Given the description of an element on the screen output the (x, y) to click on. 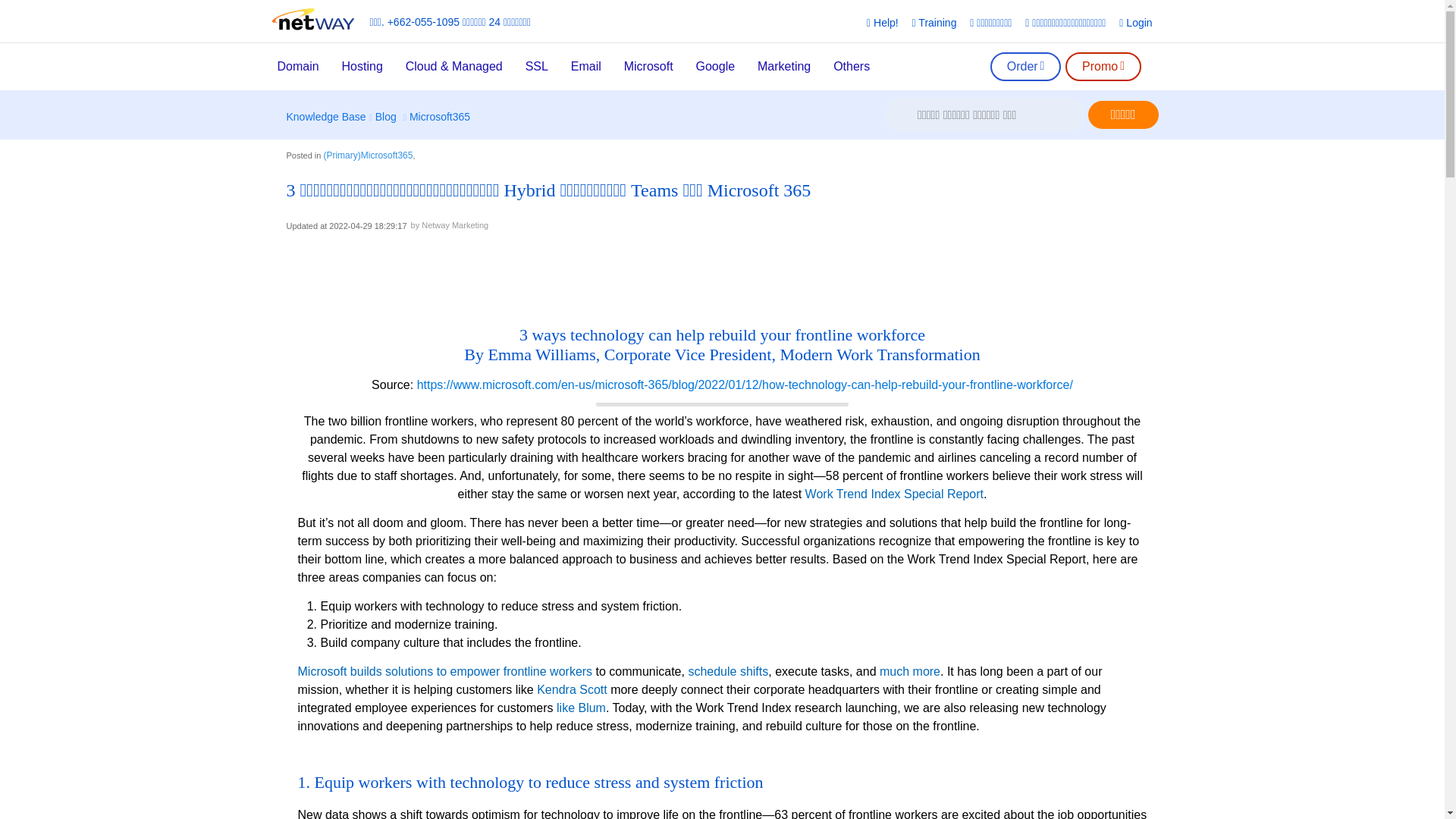
Training (937, 23)
Login (1138, 23)
Help! (885, 23)
